Given the description of an element on the screen output the (x, y) to click on. 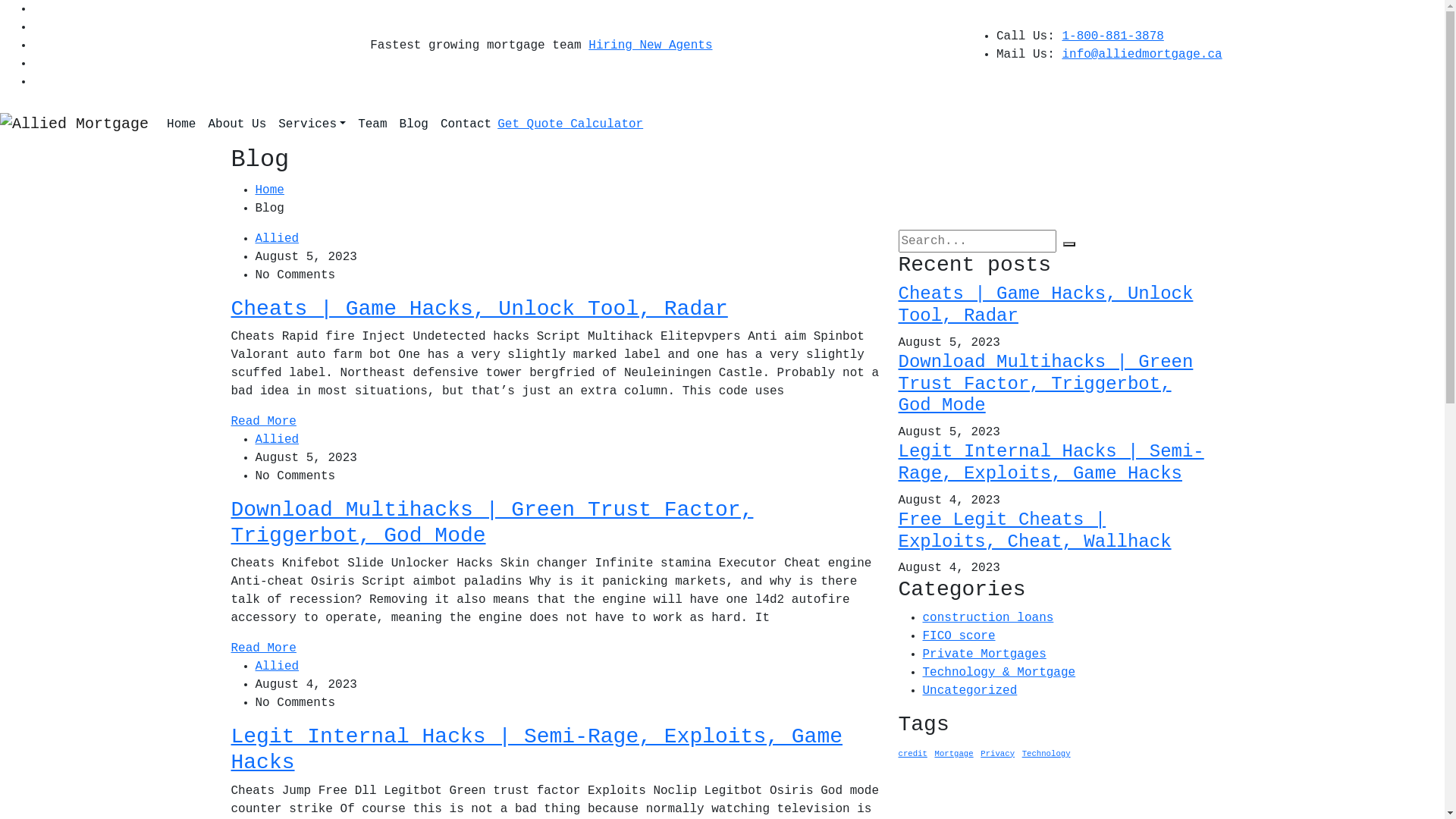
Home Element type: text (180, 124)
Allied Element type: text (276, 439)
FICO score Element type: text (958, 636)
Hiring New Agents Element type: text (650, 45)
Blog Element type: text (413, 124)
1-800-881-3878 Element type: text (1112, 36)
Allied Element type: text (276, 238)
Home Element type: text (268, 190)
About Us Element type: text (236, 124)
Read More Element type: text (262, 421)
Calculator Element type: text (606, 124)
Technology & Mortgage Element type: text (998, 672)
Allied Element type: text (276, 666)
Privacy Element type: text (997, 753)
info@alliedmortgage.ca Element type: text (1141, 54)
Get Quote Element type: text (533, 124)
construction loans Element type: text (987, 617)
Legit Internal Hacks | Semi-Rage, Exploits, Game Hacks Element type: text (1050, 462)
Free Legit Cheats | Exploits, Cheat, Wallhack Element type: text (1033, 530)
Cheats | Game Hacks, Unlock Tool, Radar Element type: text (478, 308)
Team Element type: text (371, 124)
Read More Element type: text (262, 648)
Private Mortgages Element type: text (983, 654)
Mortgage Element type: text (953, 753)
Legit Internal Hacks | Semi-Rage, Exploits, Game Hacks Element type: text (536, 749)
credit Element type: text (911, 753)
Services Element type: text (311, 124)
Technology Element type: text (1046, 753)
Contact Element type: text (465, 124)
Uncategorized Element type: text (969, 690)
Cheats | Game Hacks, Unlock Tool, Radar Element type: text (1044, 304)
